Given the description of an element on the screen output the (x, y) to click on. 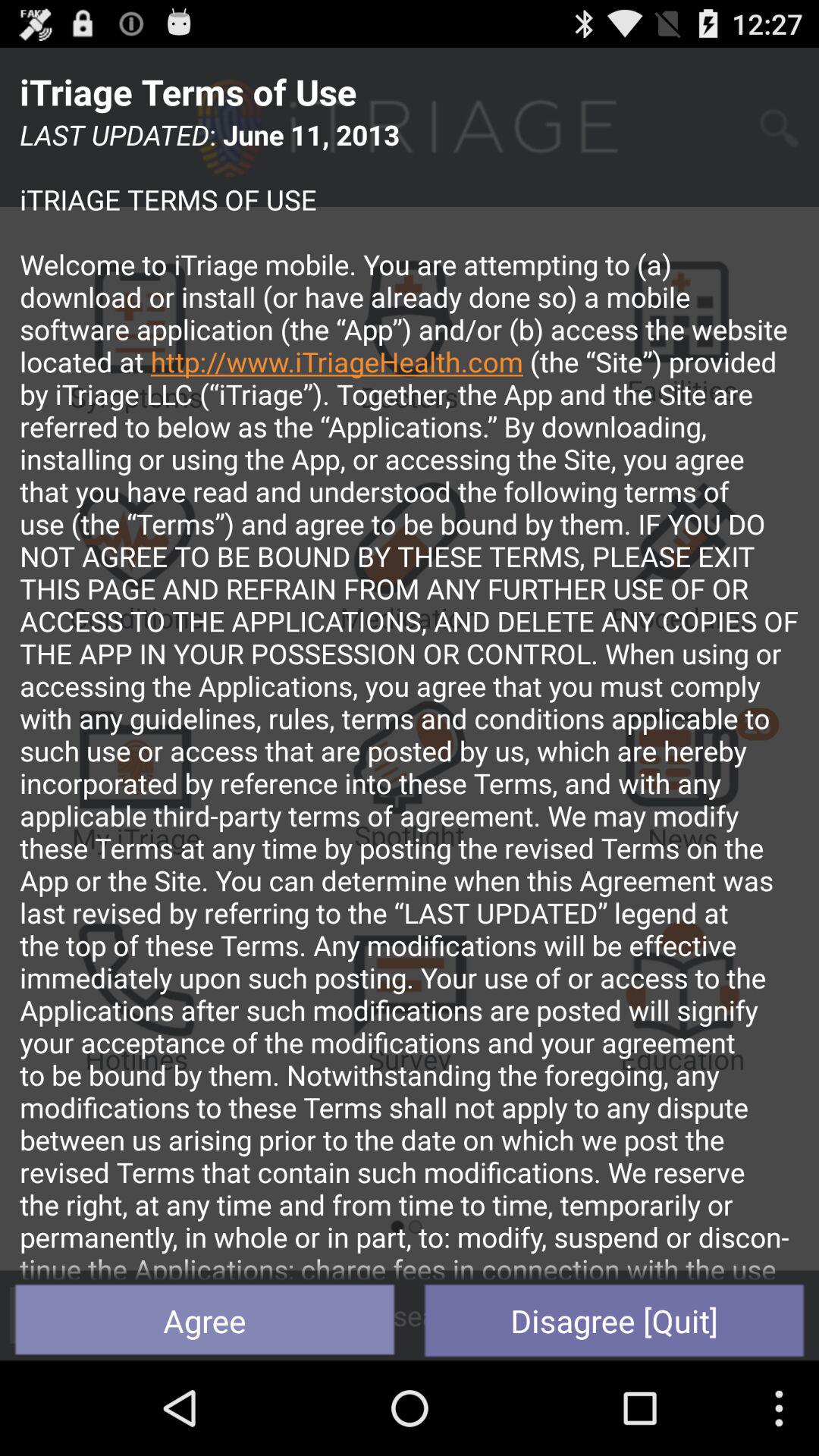
select the item next to the agree button (613, 1320)
